Given the description of an element on the screen output the (x, y) to click on. 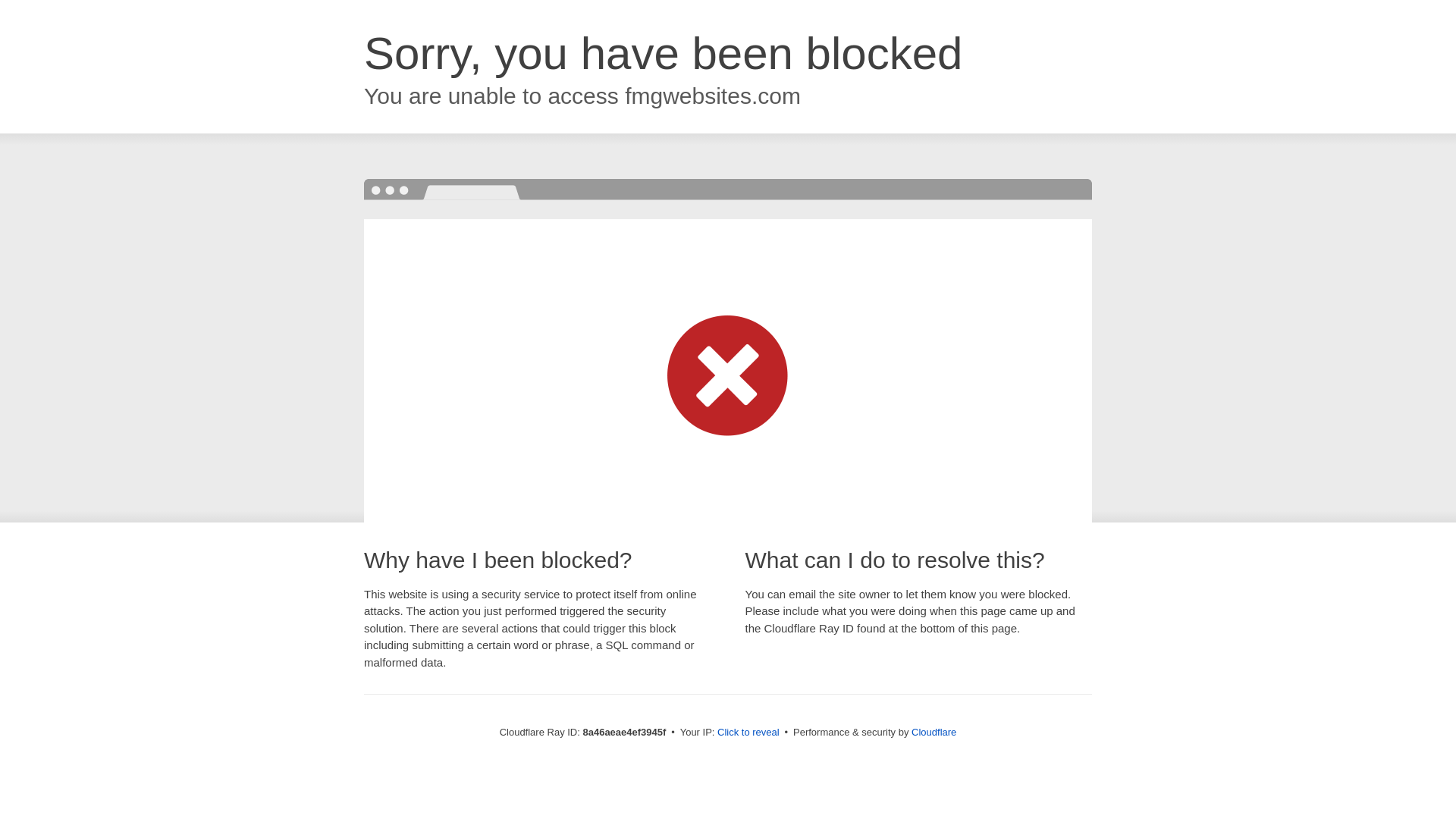
Cloudflare (933, 731)
Click to reveal (747, 732)
